Given the description of an element on the screen output the (x, y) to click on. 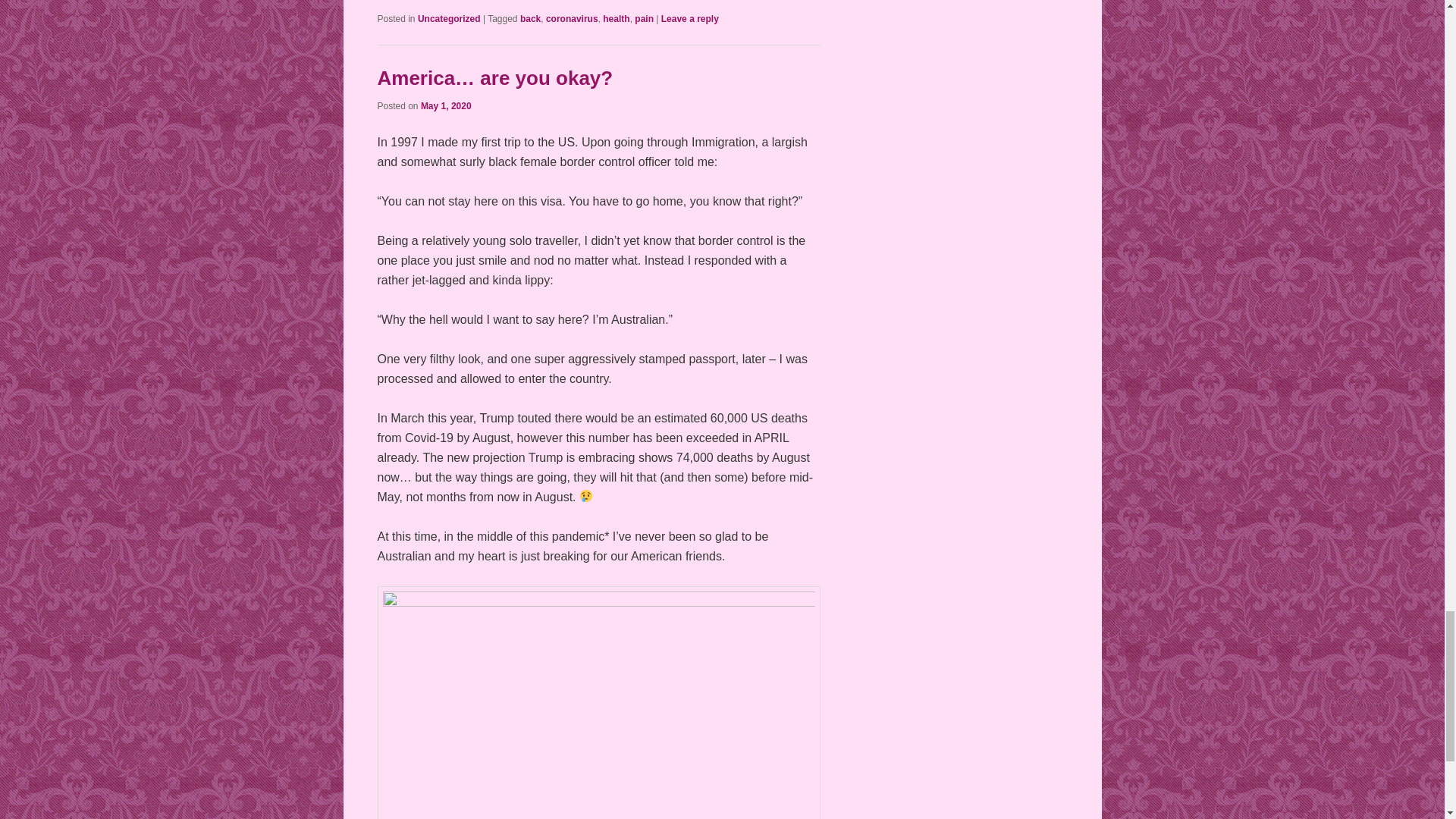
health (615, 18)
11:08 pm (445, 105)
coronavirus (572, 18)
Uncategorized (448, 18)
Leave a reply (690, 18)
pain (643, 18)
May 1, 2020 (445, 105)
back (529, 18)
